Given the description of an element on the screen output the (x, y) to click on. 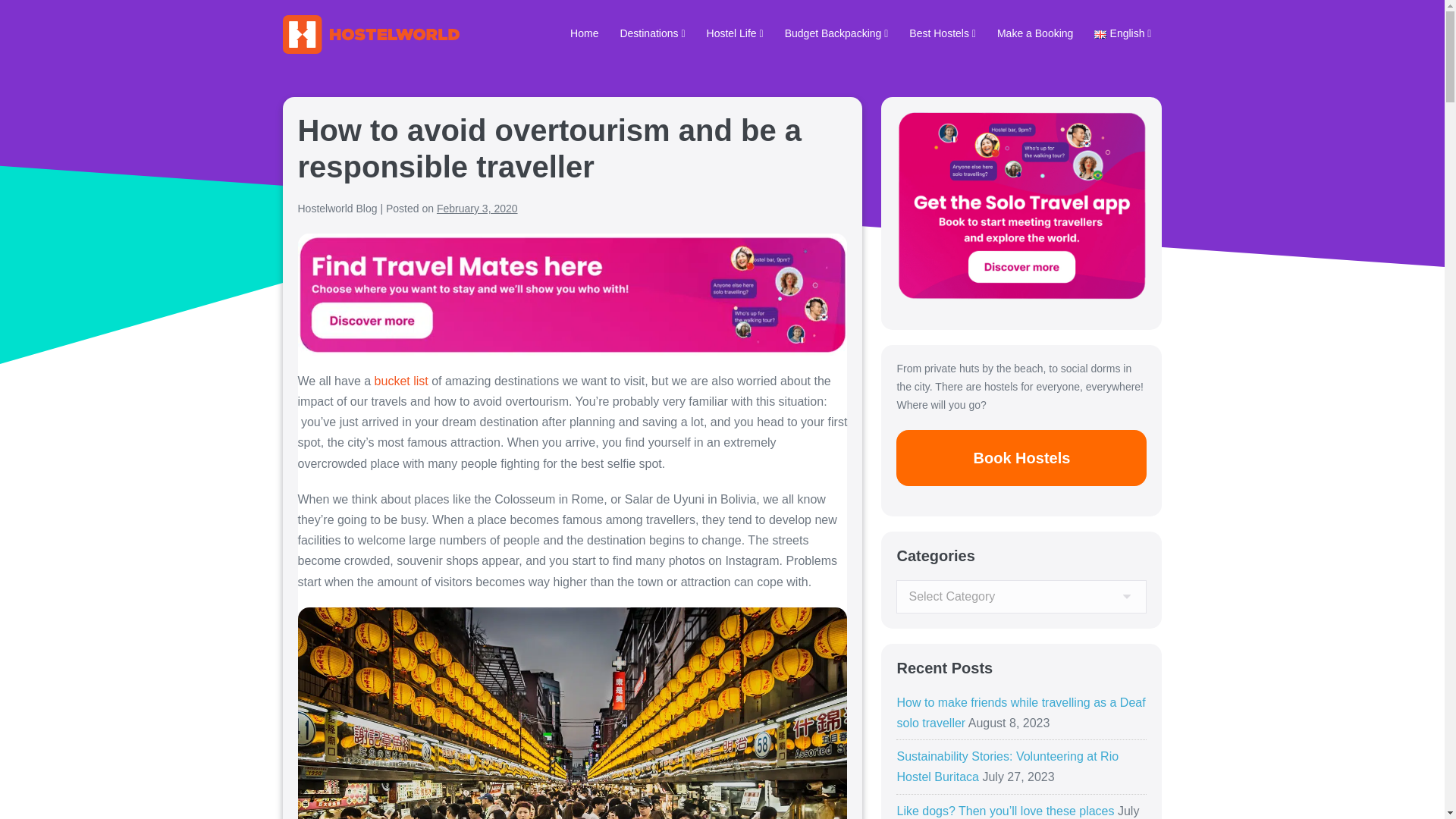
Hostelworld Travel Blog (370, 34)
Travel Advice Blog (583, 34)
The best hostels for solo travellers in the world (942, 34)
